Given the description of an element on the screen output the (x, y) to click on. 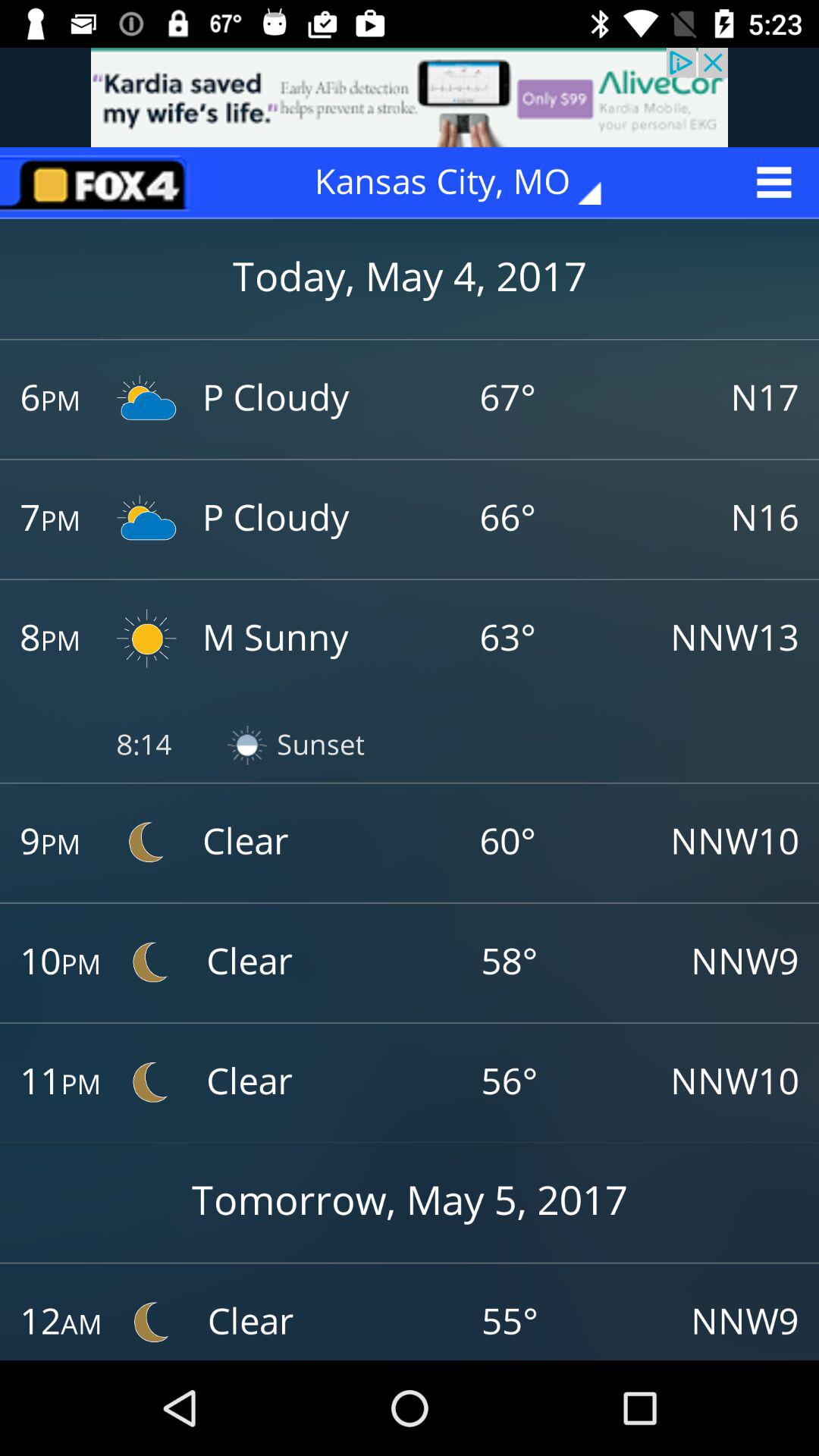
go to the main app screen (99, 182)
